Given the description of an element on the screen output the (x, y) to click on. 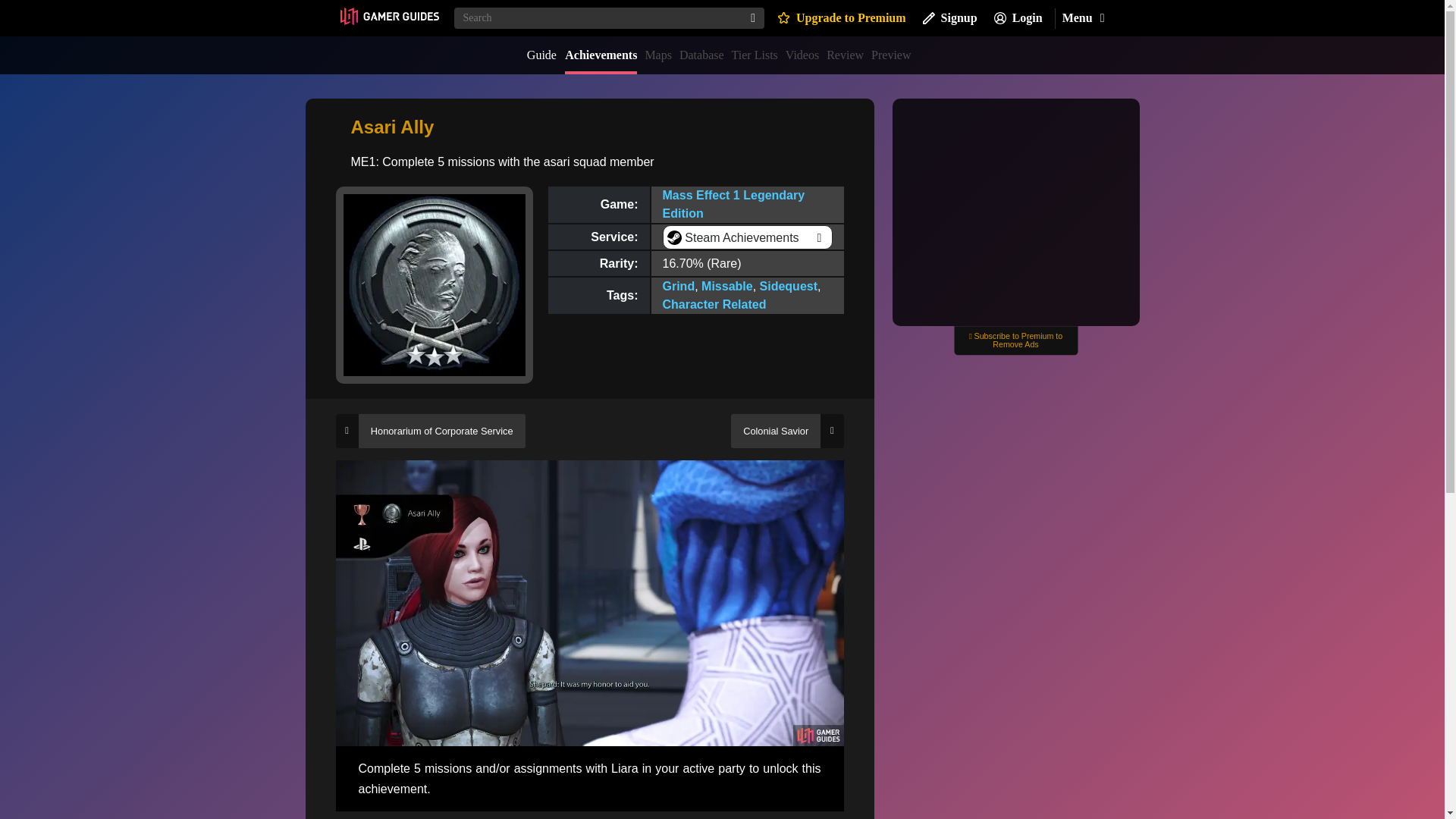
Achievements (600, 55)
Mass Effect 1 Legendary Edition (733, 204)
Signup (949, 18)
Login (1018, 18)
Achievements (600, 55)
Steam Achievements (746, 238)
Main Menu (1082, 18)
Subscribe to Premium to Remove Ads (1015, 339)
Home (388, 17)
